Given the description of an element on the screen output the (x, y) to click on. 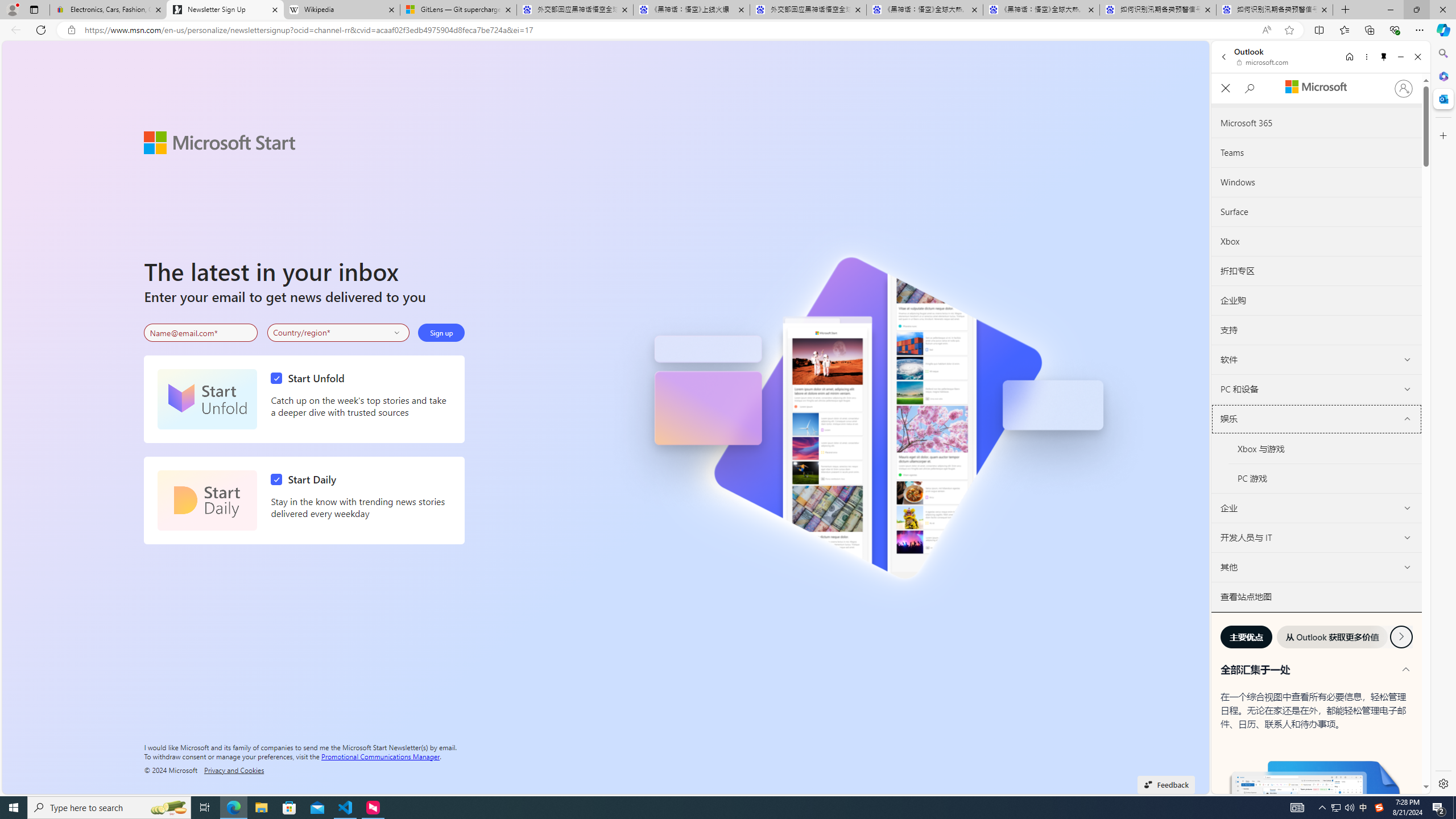
Wikipedia (341, 9)
Close All Microsoft list (1225, 88)
Xbox (1316, 241)
Select your country (338, 332)
Teams (1316, 152)
Privacy and Cookies (233, 769)
microsoft.com (1263, 61)
